Given the description of an element on the screen output the (x, y) to click on. 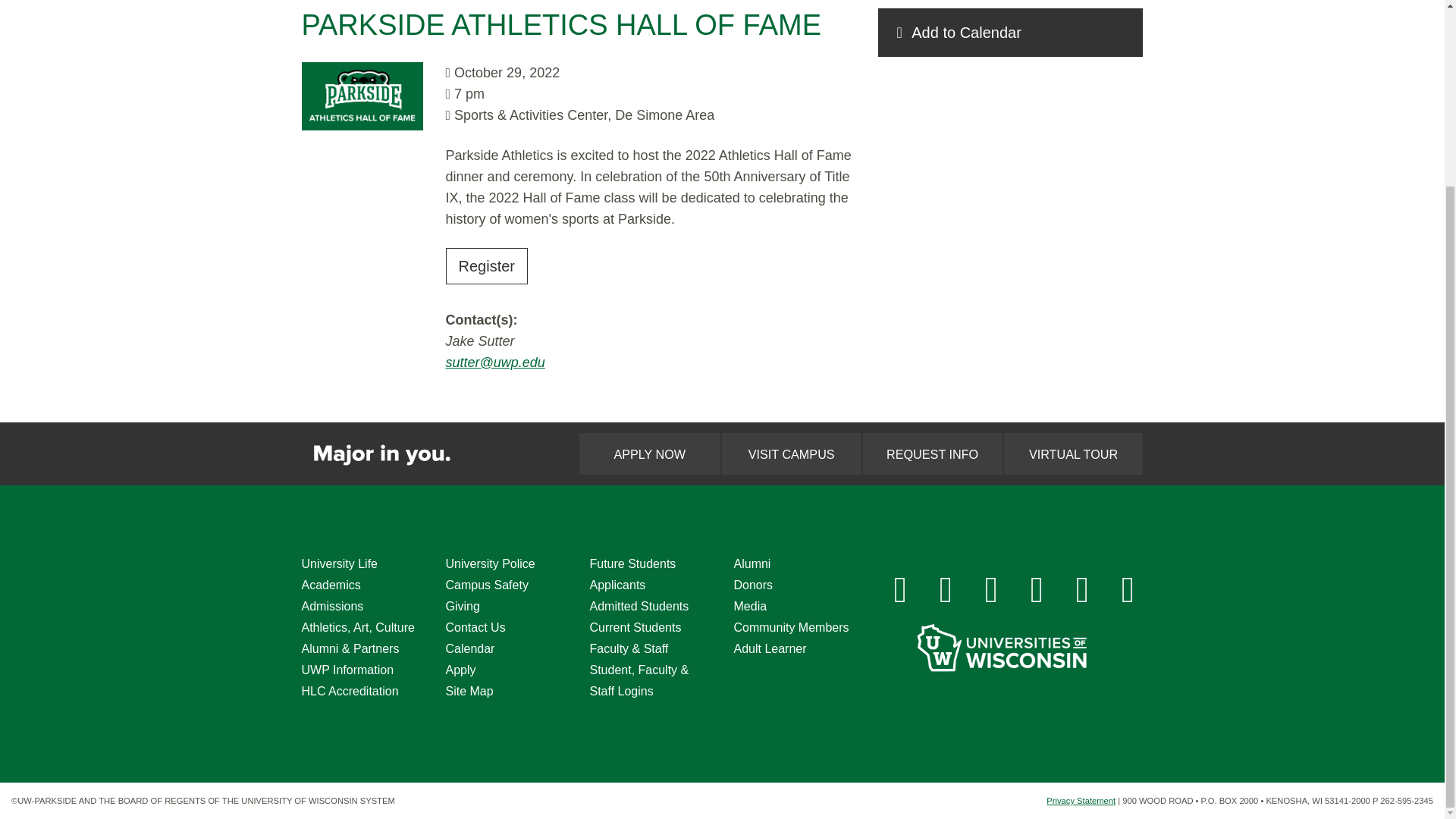
Instagram (946, 589)
Email Admissions (1128, 589)
TikTok (1082, 589)
X (991, 589)
Facebook (900, 589)
LinkedIn (1036, 589)
Download as .ics (1009, 32)
